Given the description of an element on the screen output the (x, y) to click on. 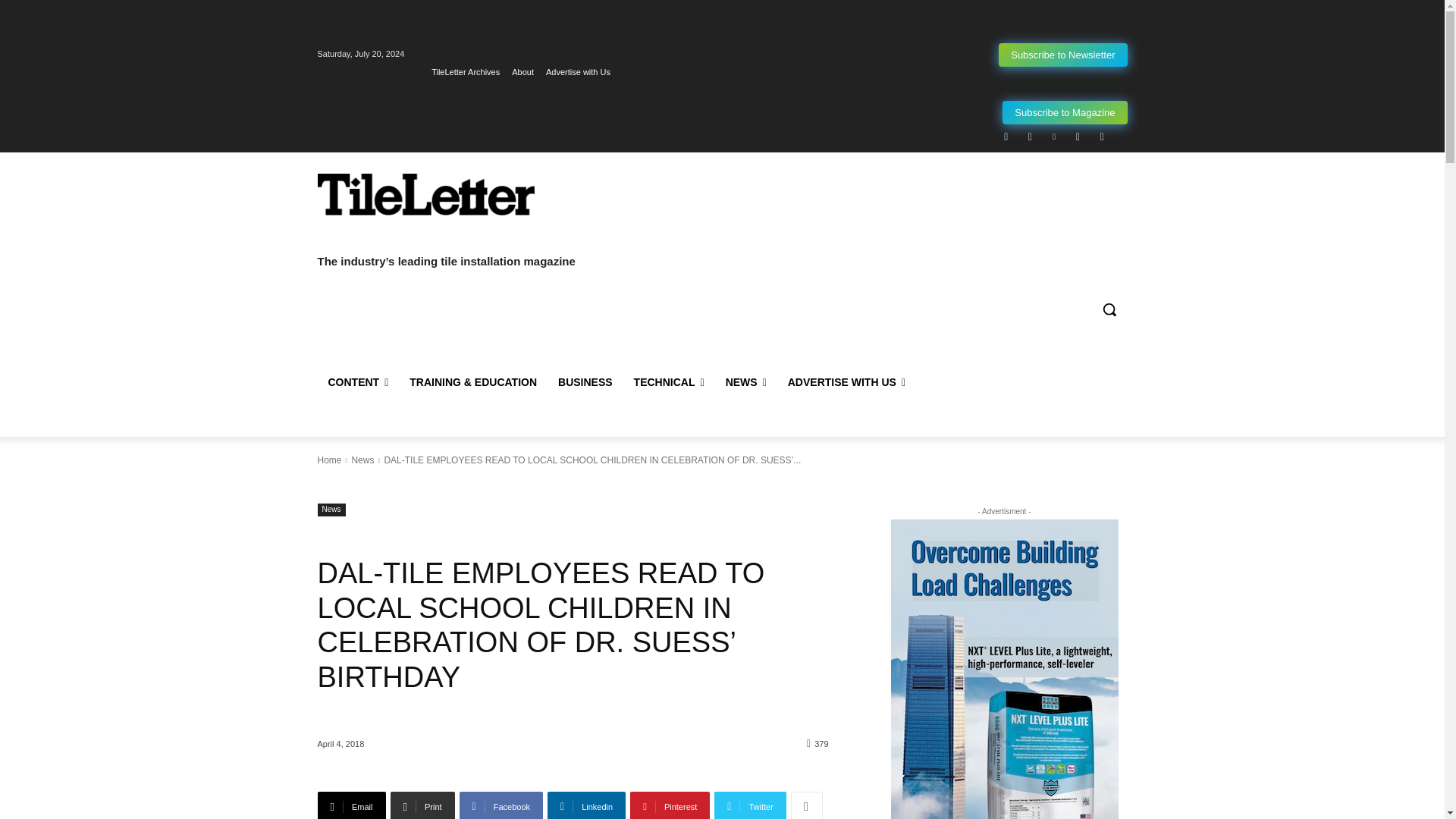
About (523, 71)
Youtube (1102, 136)
Linkedin (1053, 136)
Subscribe to Newsletter (1062, 54)
TECHNICAL (668, 381)
Subscribe to Newsletter (1062, 54)
TileLetter Archives (464, 71)
Advertise with Us (578, 71)
Subscribe to Magazine (1064, 112)
Instagram (1030, 136)
CONTENT (357, 381)
BUSINESS (585, 381)
Subscribe to Magazine (1064, 112)
Twitter (1077, 136)
Facebook (1005, 136)
